Given the description of an element on the screen output the (x, y) to click on. 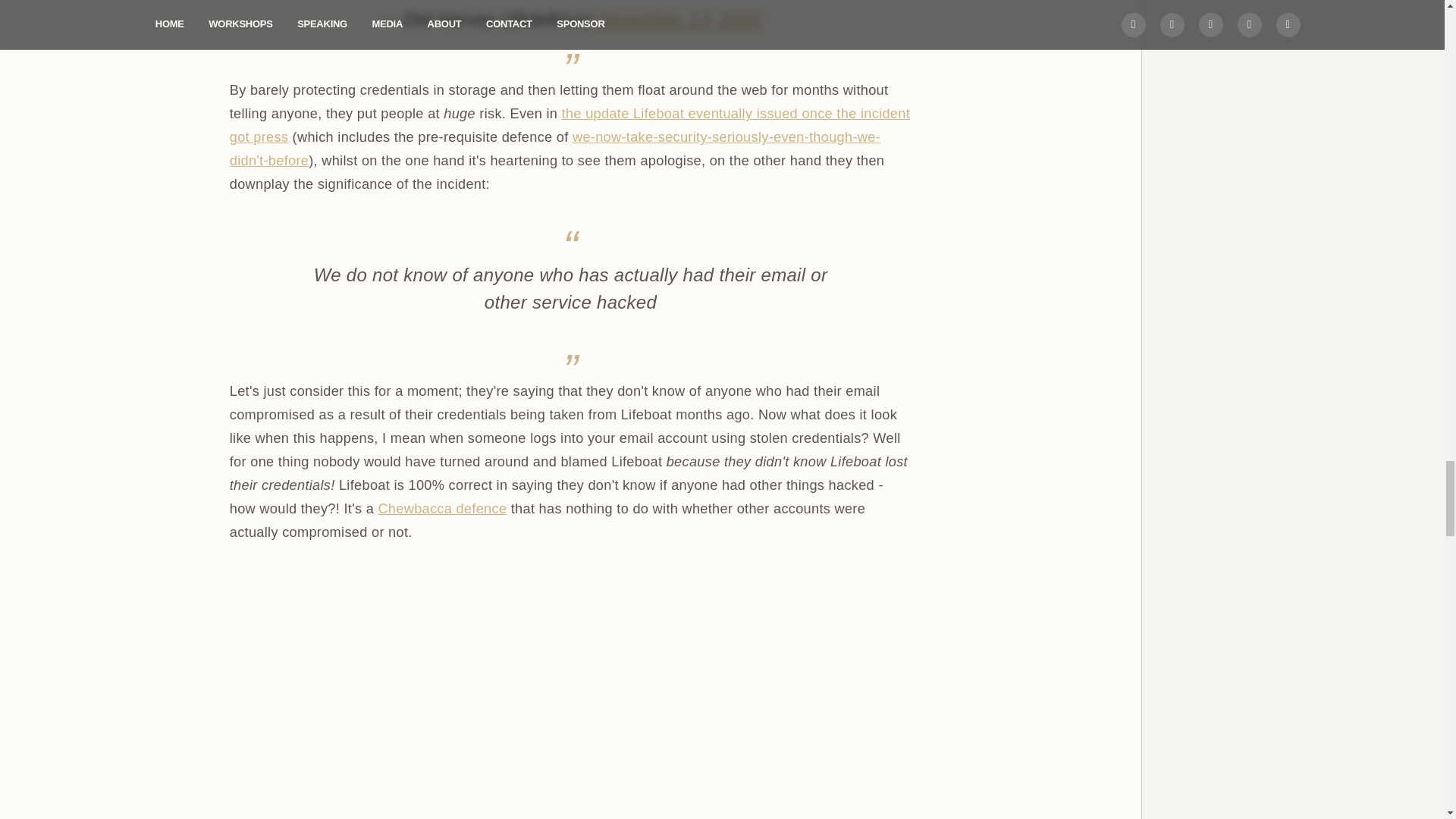
Chewbacca defence (441, 508)
we-now-take-security-seriously-even-though-we-didn't-before (555, 148)
December 13, 2010 (678, 19)
